Given the description of an element on the screen output the (x, y) to click on. 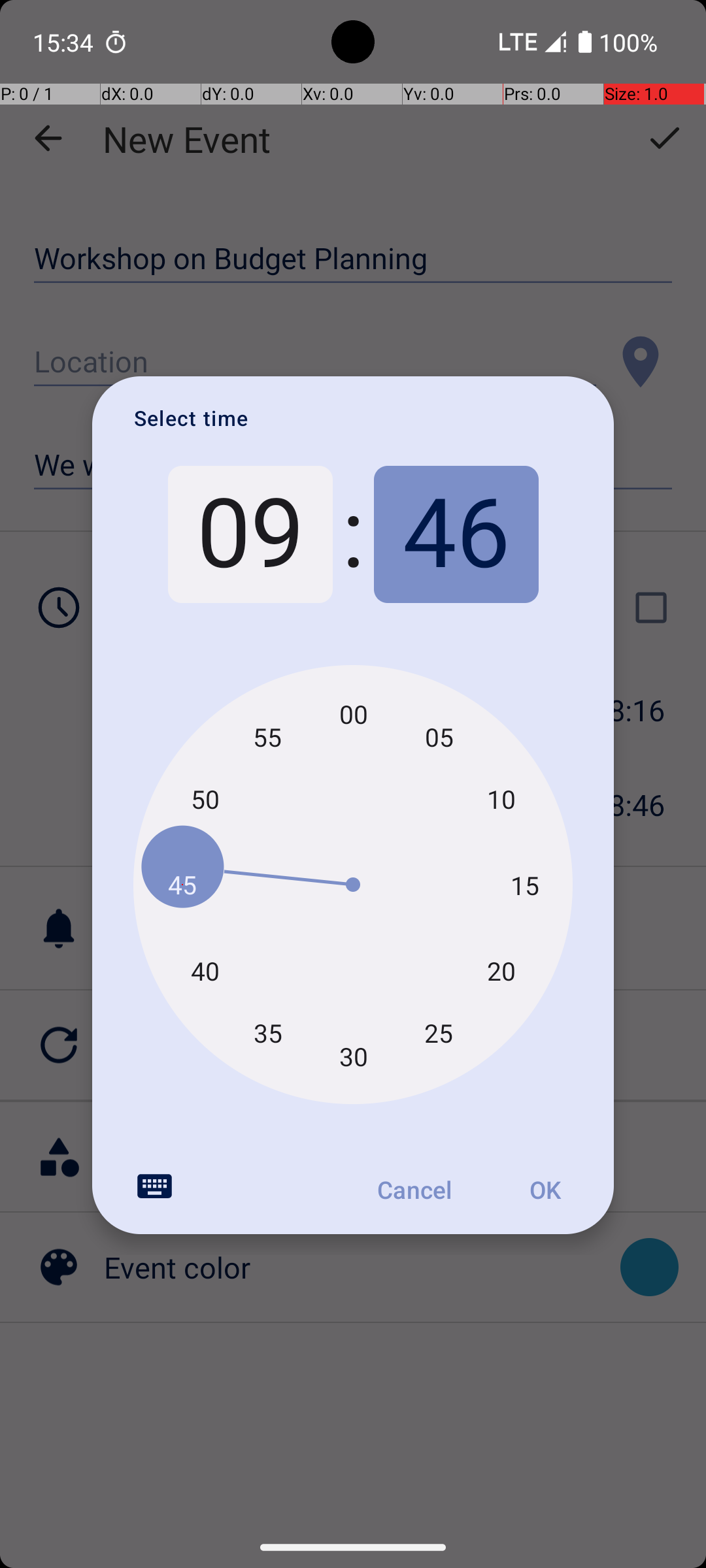
09 Element type: android.view.View (250, 534)
46 Element type: android.view.View (455, 534)
